Given the description of an element on the screen output the (x, y) to click on. 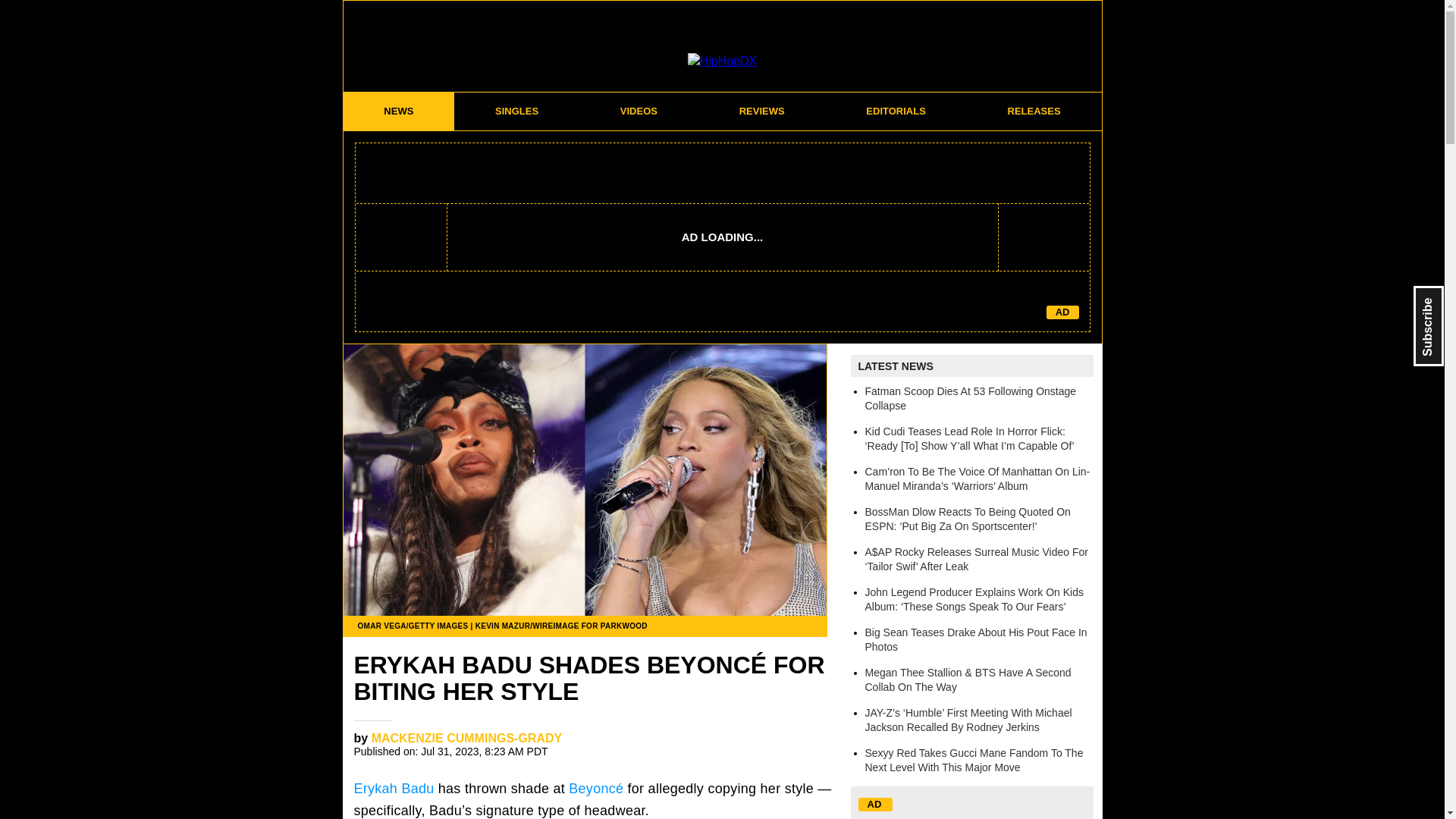
6 (810, 743)
EDITORIALS (895, 111)
SINGLES (516, 111)
MACKENZIE CUMMINGS-GRADY (466, 738)
REVIEWS (761, 111)
VIDEOS (638, 111)
Erykah Badu (393, 788)
RELEASES (1034, 111)
NEWS (398, 111)
